Given the description of an element on the screen output the (x, y) to click on. 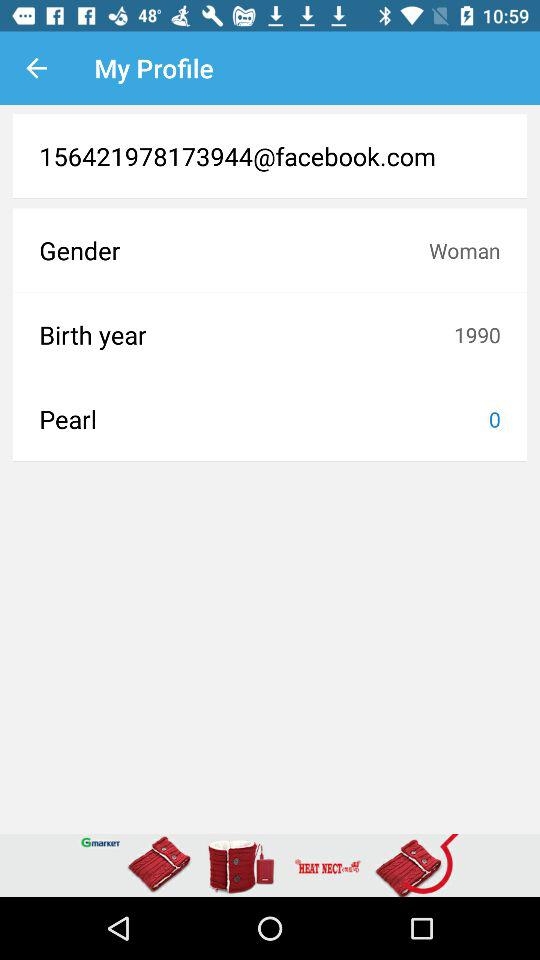
scroll until the woman item (464, 250)
